Given the description of an element on the screen output the (x, y) to click on. 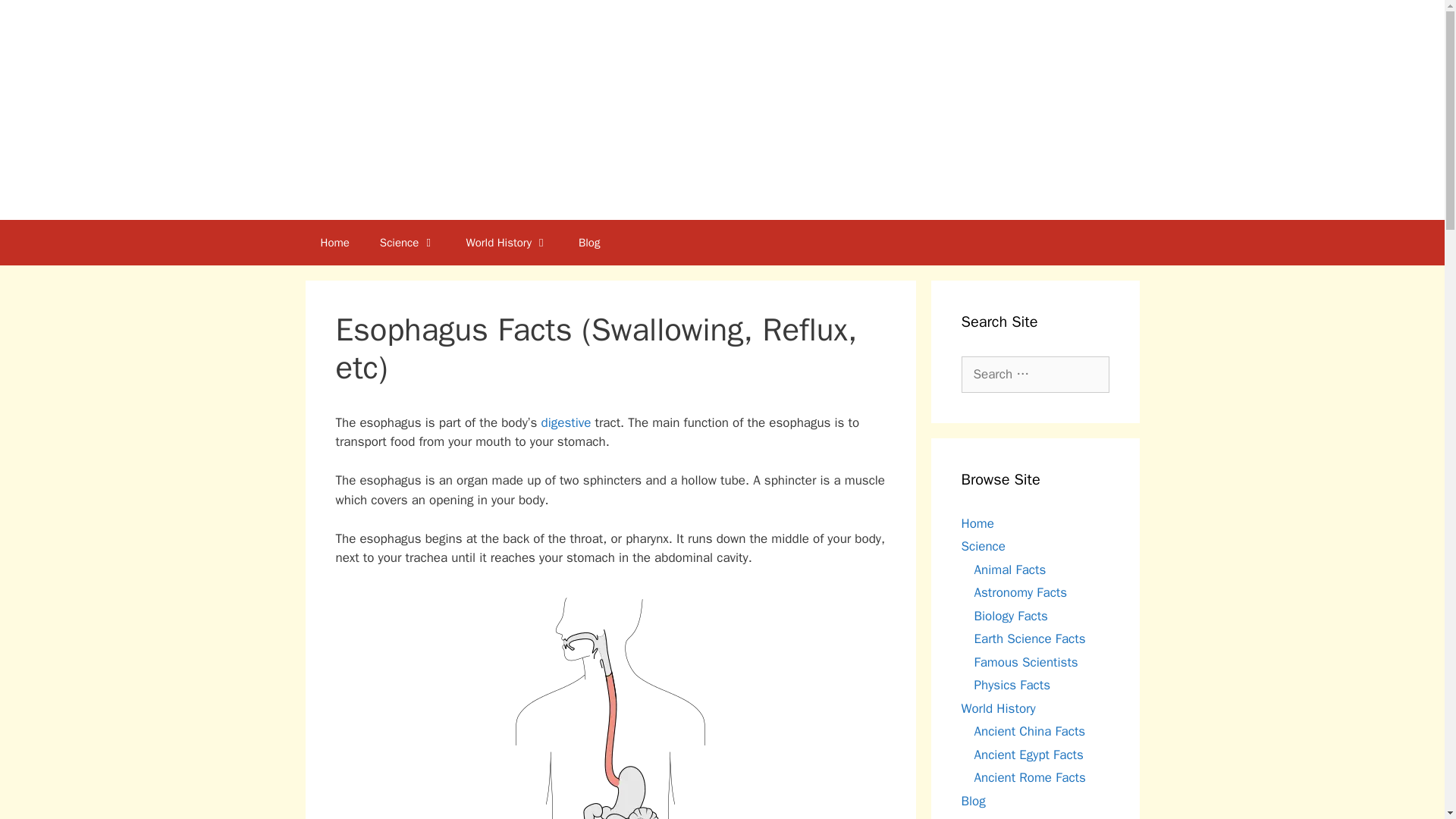
Astronomy Facts (1020, 592)
Search for: (1034, 374)
Science (983, 546)
Blog (972, 801)
Search (35, 18)
World History (997, 708)
Physics Facts (1011, 684)
Home (334, 242)
World History (506, 242)
Animal Facts (1009, 569)
digestive (566, 422)
Science (408, 242)
Ancient Egypt Facts (1028, 754)
Ancient China Facts (1029, 731)
Ancient Rome Facts (1029, 777)
